Given the description of an element on the screen output the (x, y) to click on. 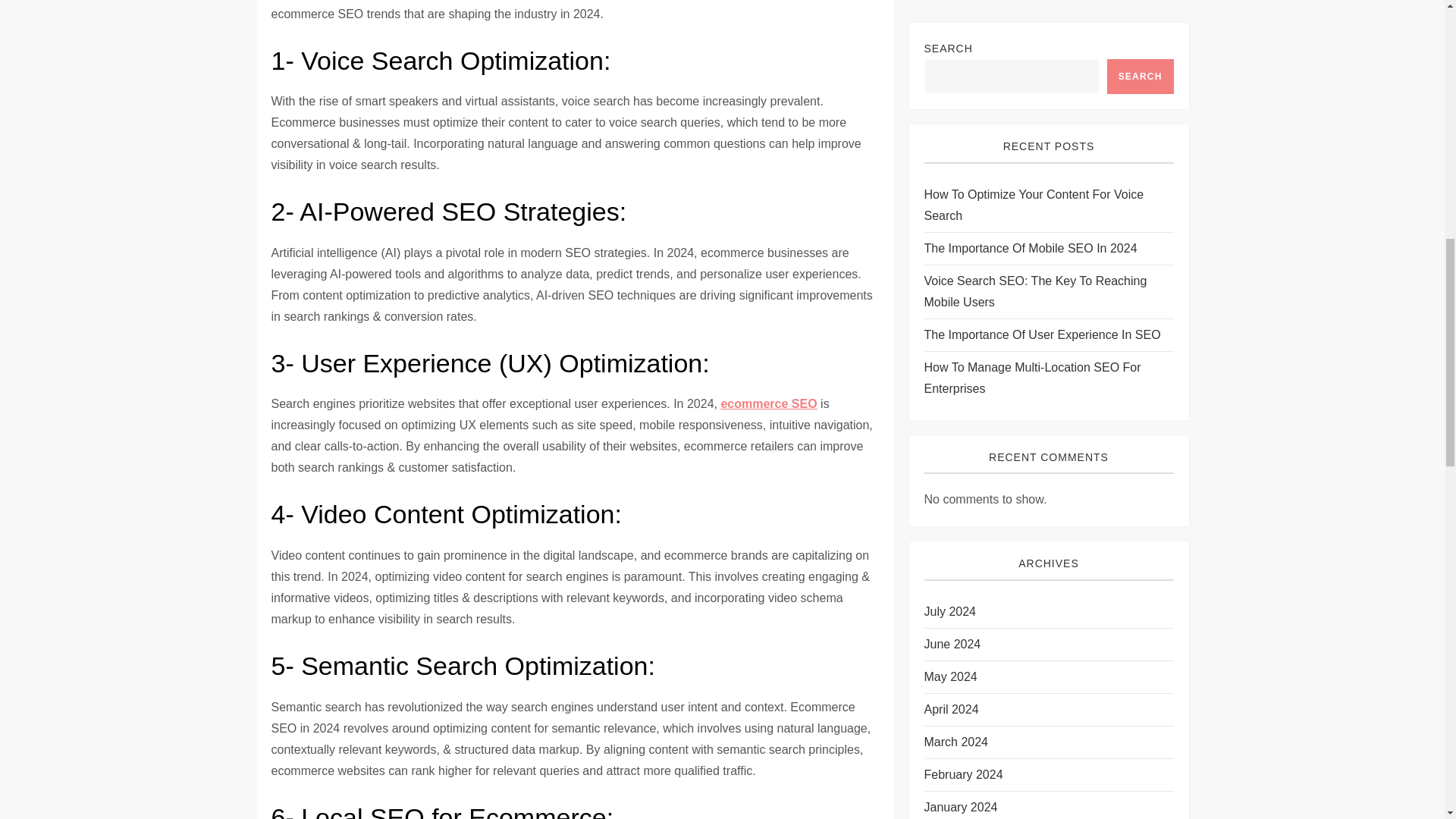
May 2024 (949, 37)
ecommerce SEO (768, 403)
April 2024 (950, 70)
June 2024 (951, 7)
